Given the description of an element on the screen output the (x, y) to click on. 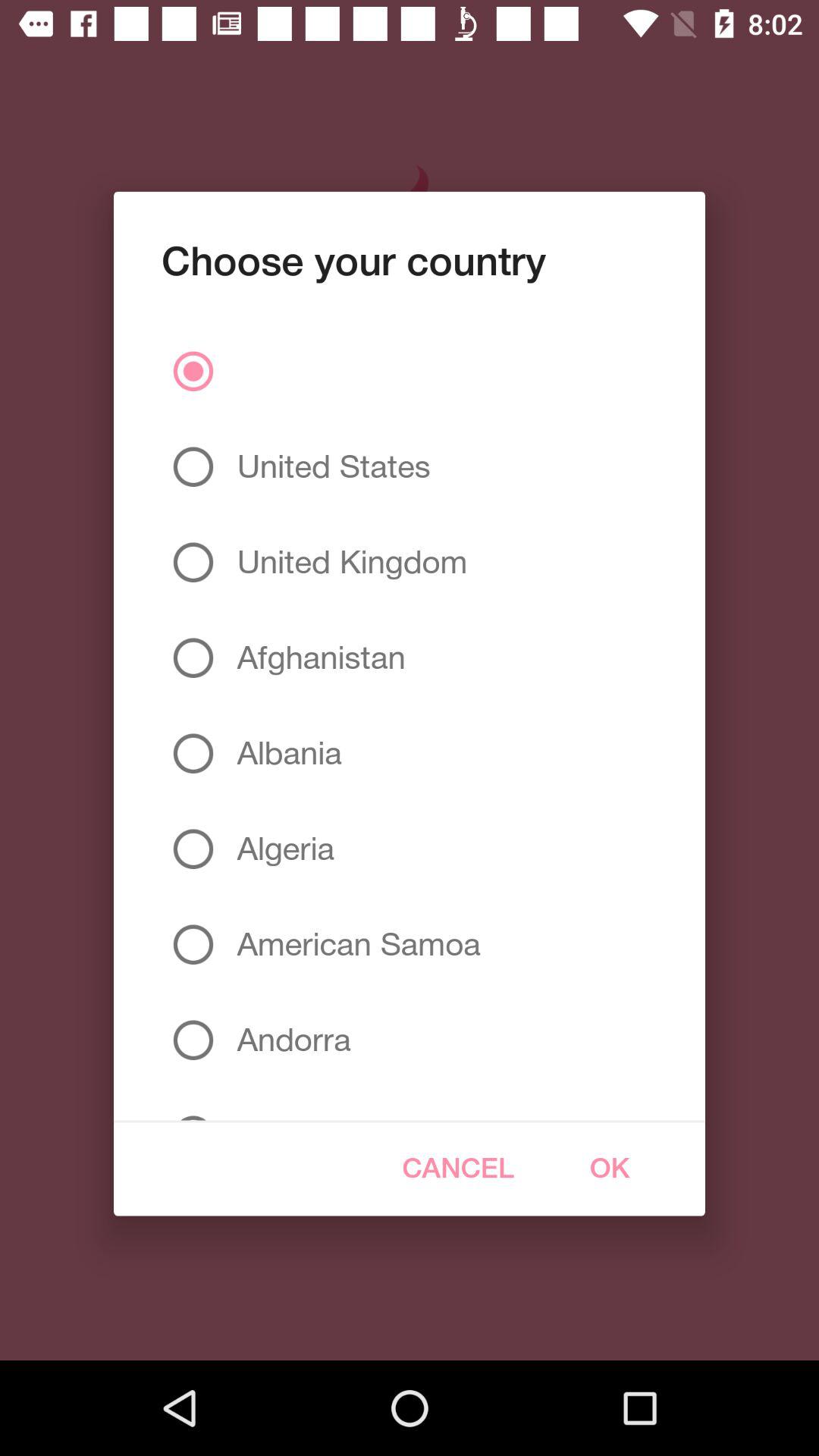
flip until united states item (327, 466)
